Given the description of an element on the screen output the (x, y) to click on. 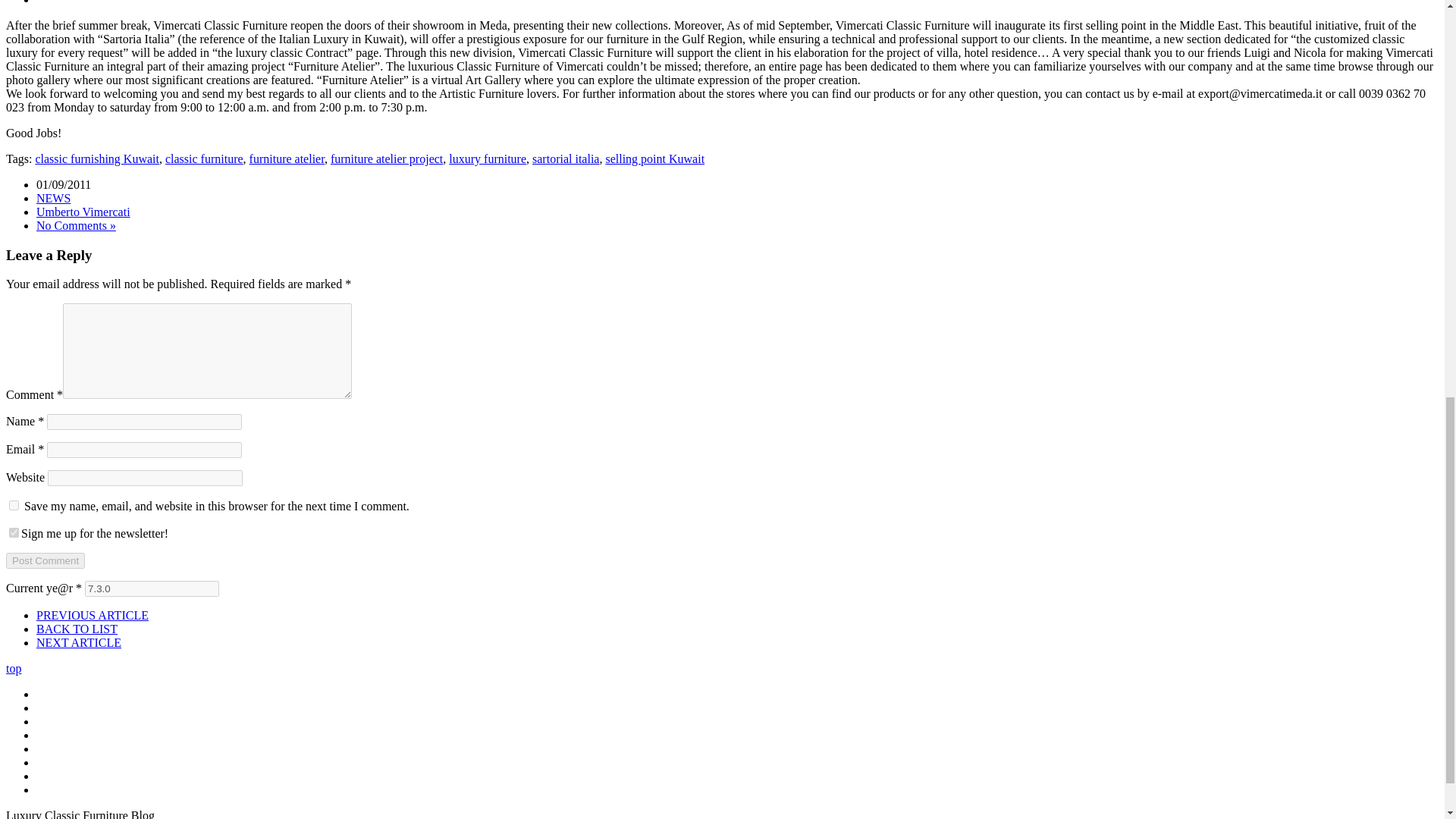
1 (13, 532)
7.3.0 (151, 588)
Post Comment (44, 560)
Posts by Umberto Vimercati (83, 211)
yes (13, 505)
